Given the description of an element on the screen output the (x, y) to click on. 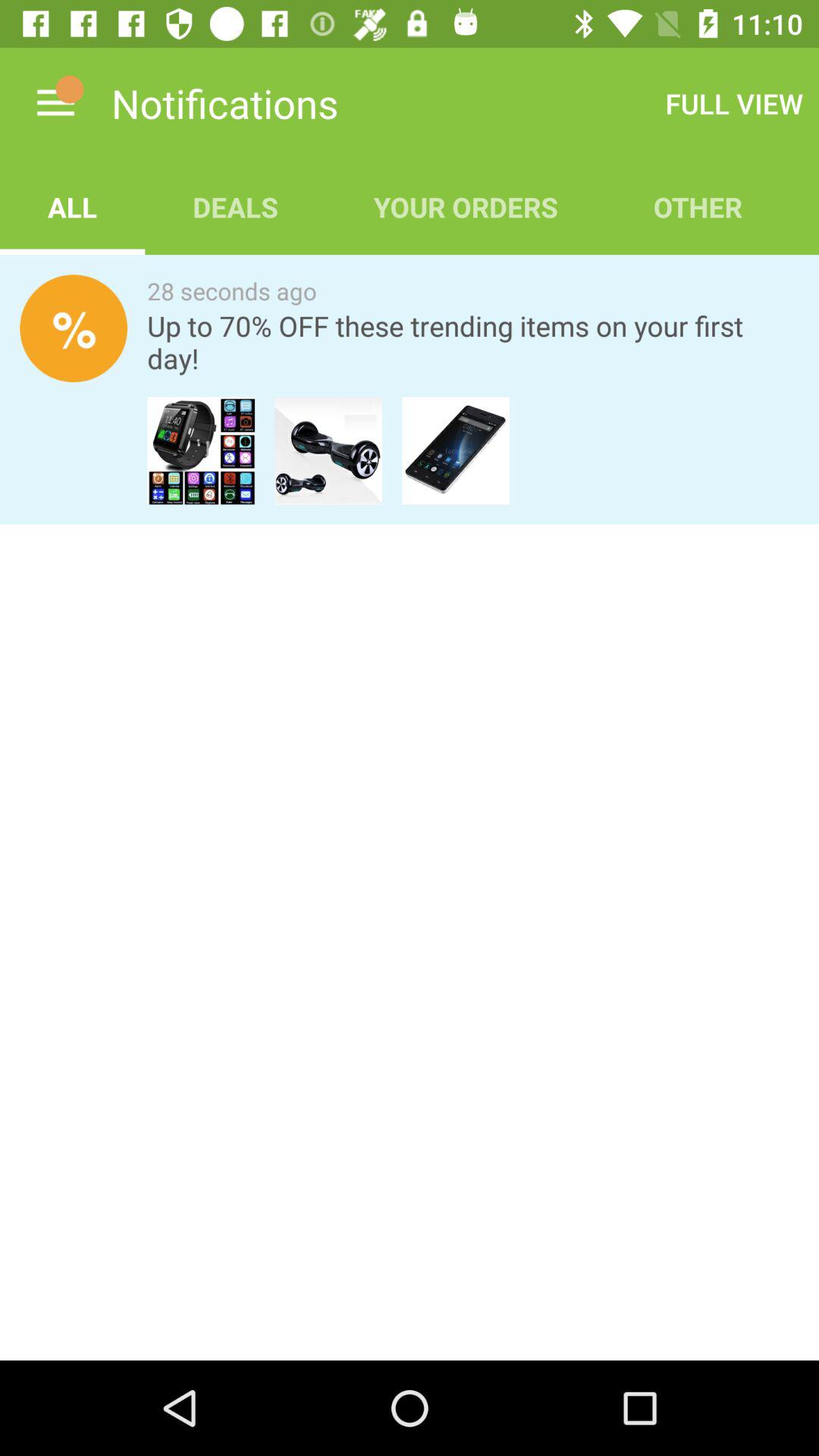
launch icon at the center (409, 675)
